Given the description of an element on the screen output the (x, y) to click on. 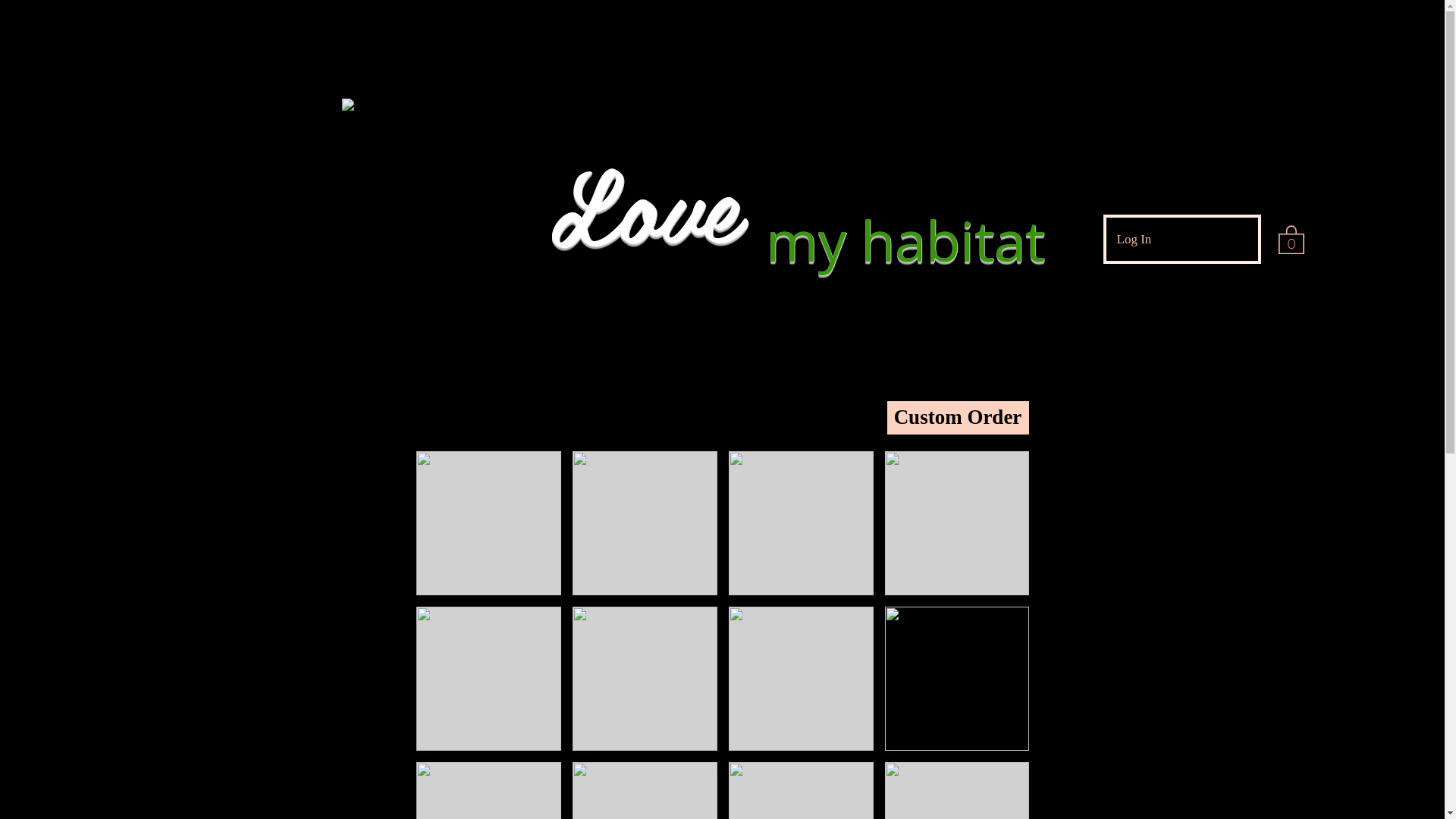
Custom Order Element type: text (958, 417)
my habitat Element type: text (904, 239)
Love Element type: text (643, 202)
0 Element type: text (1291, 238)
Log In Element type: text (1133, 239)
